Given the description of an element on the screen output the (x, y) to click on. 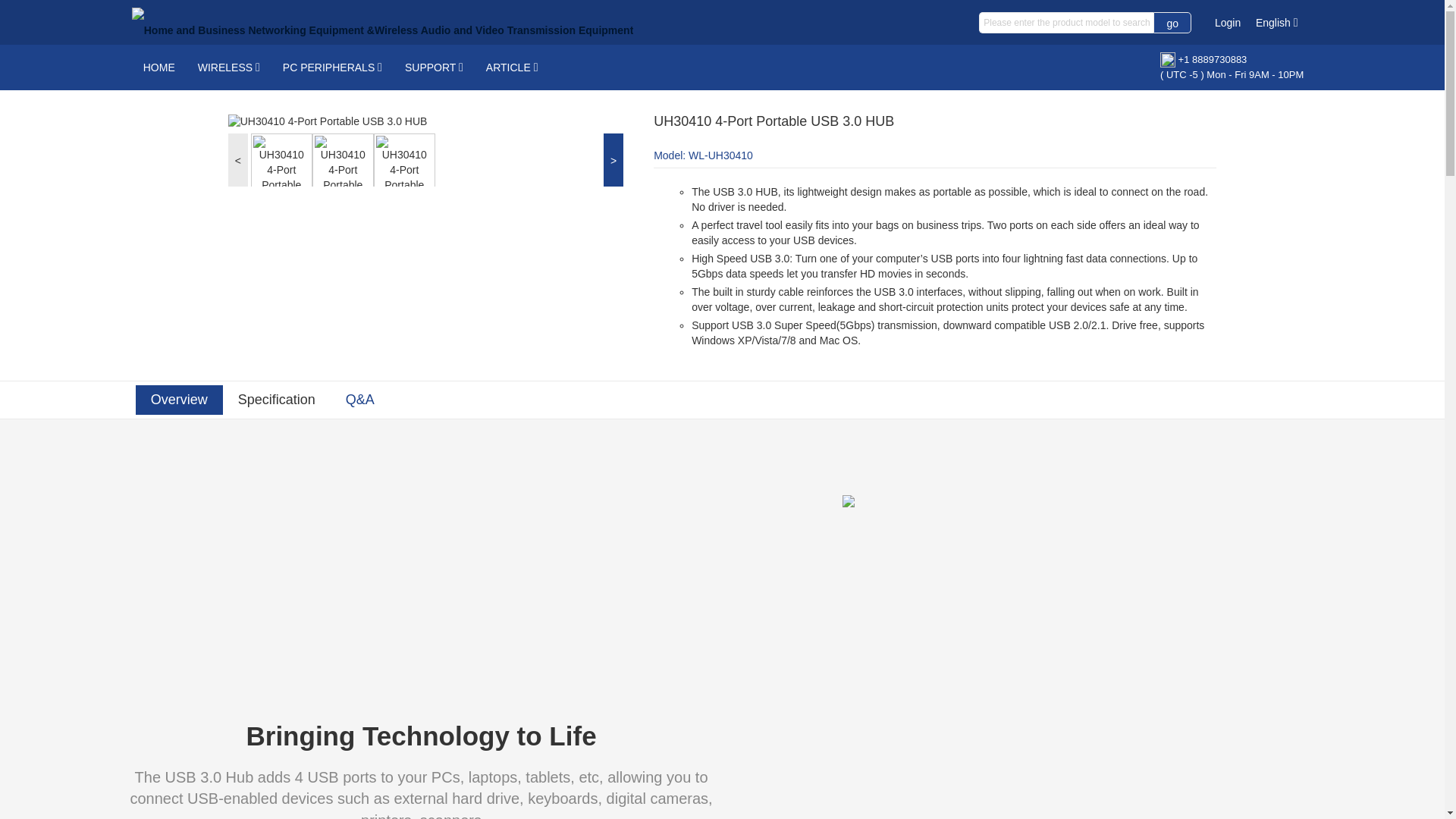
HOME (159, 67)
go (1172, 22)
Login (1227, 22)
WIRELESS (228, 67)
English (1276, 22)
go (1172, 22)
